Given the description of an element on the screen output the (x, y) to click on. 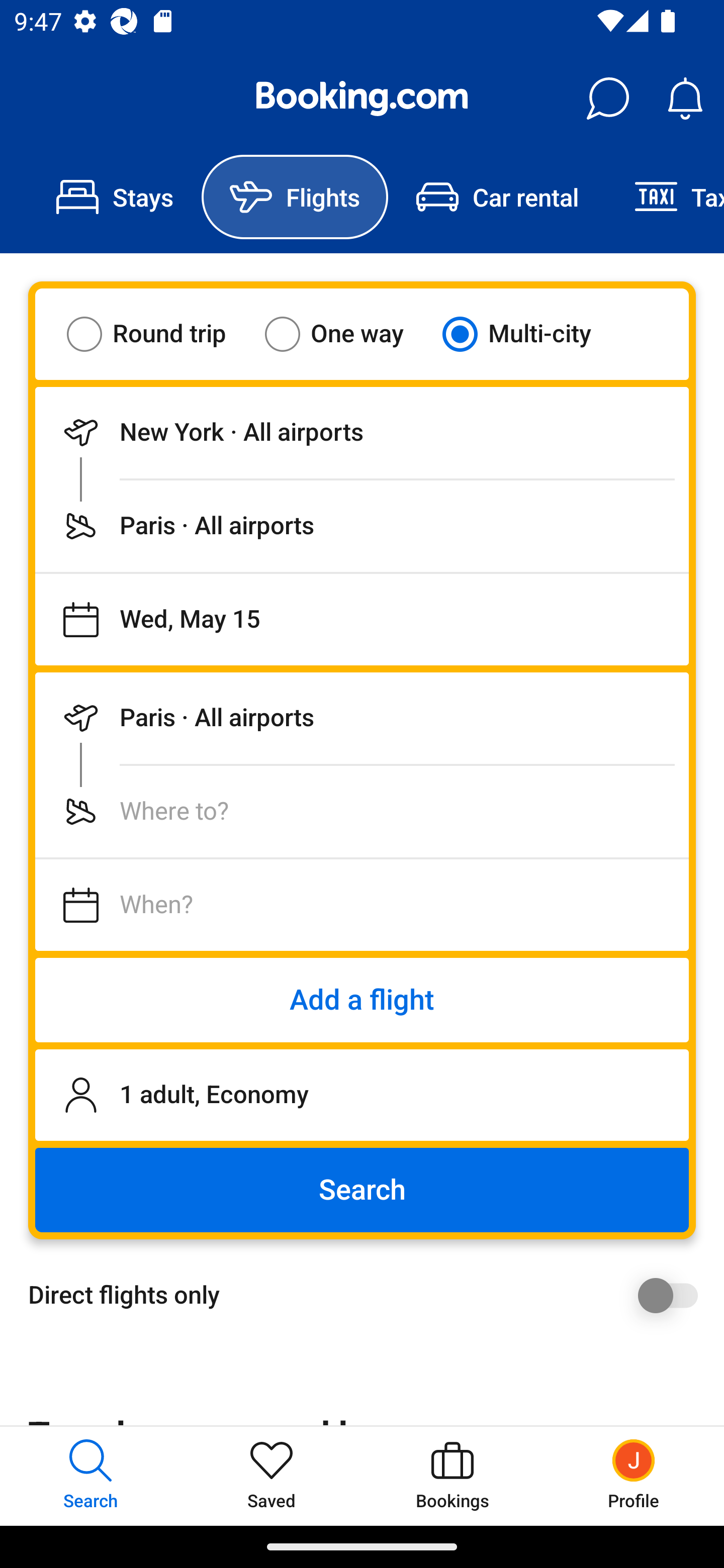
Messages (607, 98)
Notifications (685, 98)
Stays (114, 197)
Flights (294, 197)
Car rental (497, 197)
Taxi (665, 197)
Round trip (158, 333)
One way (346, 333)
Flight 1, departing from New York · All airports (361, 432)
Flight 1, flying to Paris · All airports (361, 525)
Flight 1 departing on Wed, May 15 (361, 618)
Flight 2, departing from Paris · All airports (361, 717)
Flight 2, flying to  (361, 811)
Flight 2 departing on Wed, May 15 (361, 904)
Add a flight (361, 1000)
1 adult, Economy (361, 1094)
Search (361, 1189)
Direct flights only (369, 1294)
Saved (271, 1475)
Bookings (452, 1475)
Profile (633, 1475)
